Given the description of an element on the screen output the (x, y) to click on. 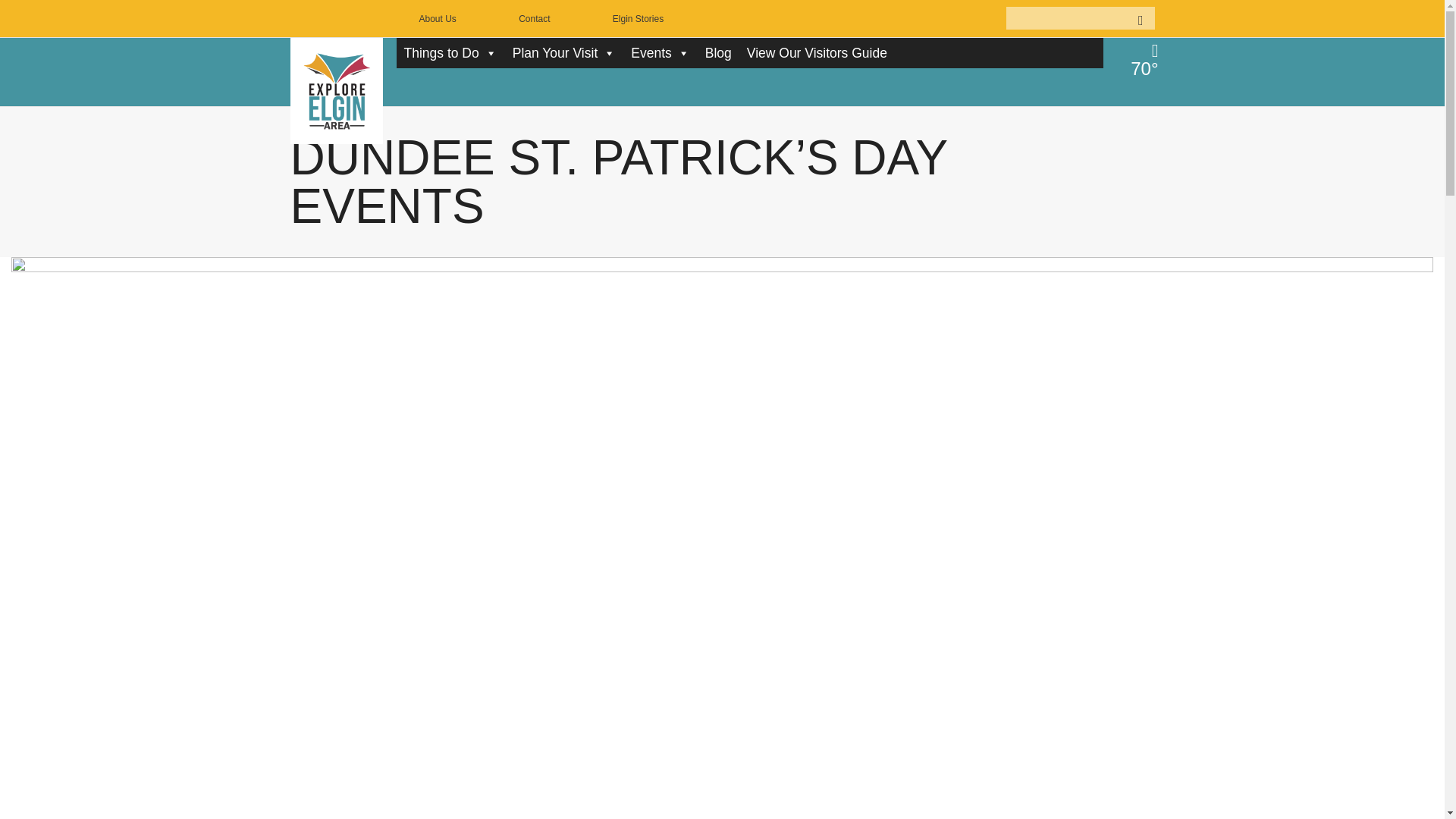
clear sky (1140, 59)
